Given the description of an element on the screen output the (x, y) to click on. 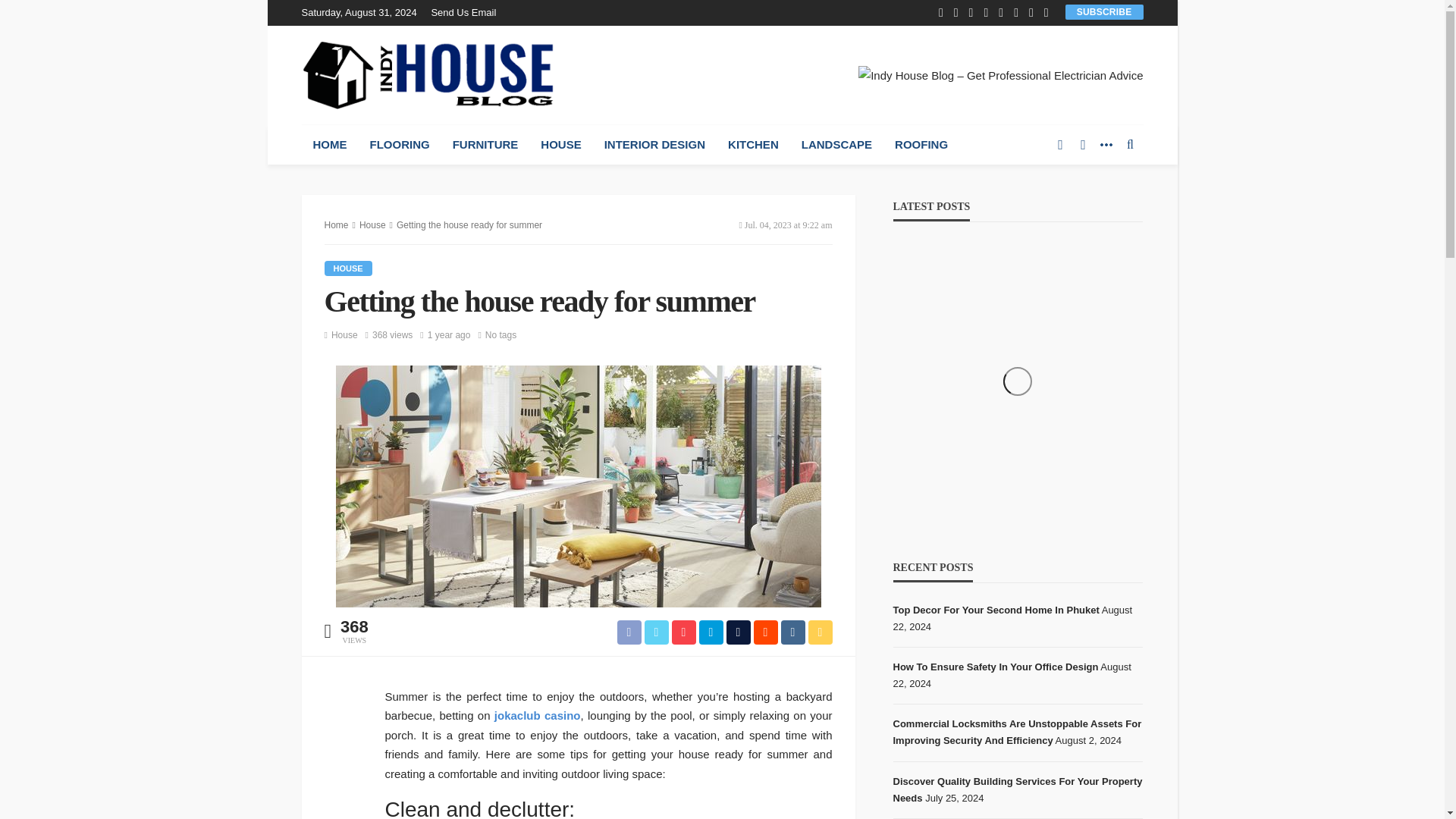
HOUSE (560, 144)
FLOORING (399, 144)
KITCHEN (753, 144)
Send Us Email (466, 12)
HOME (329, 144)
LANDSCAPE (836, 144)
ROOFING (921, 144)
INTERIOR DESIGN (654, 144)
SUBSCRIBE (1103, 11)
FURNITURE (485, 144)
